Given the description of an element on the screen output the (x, y) to click on. 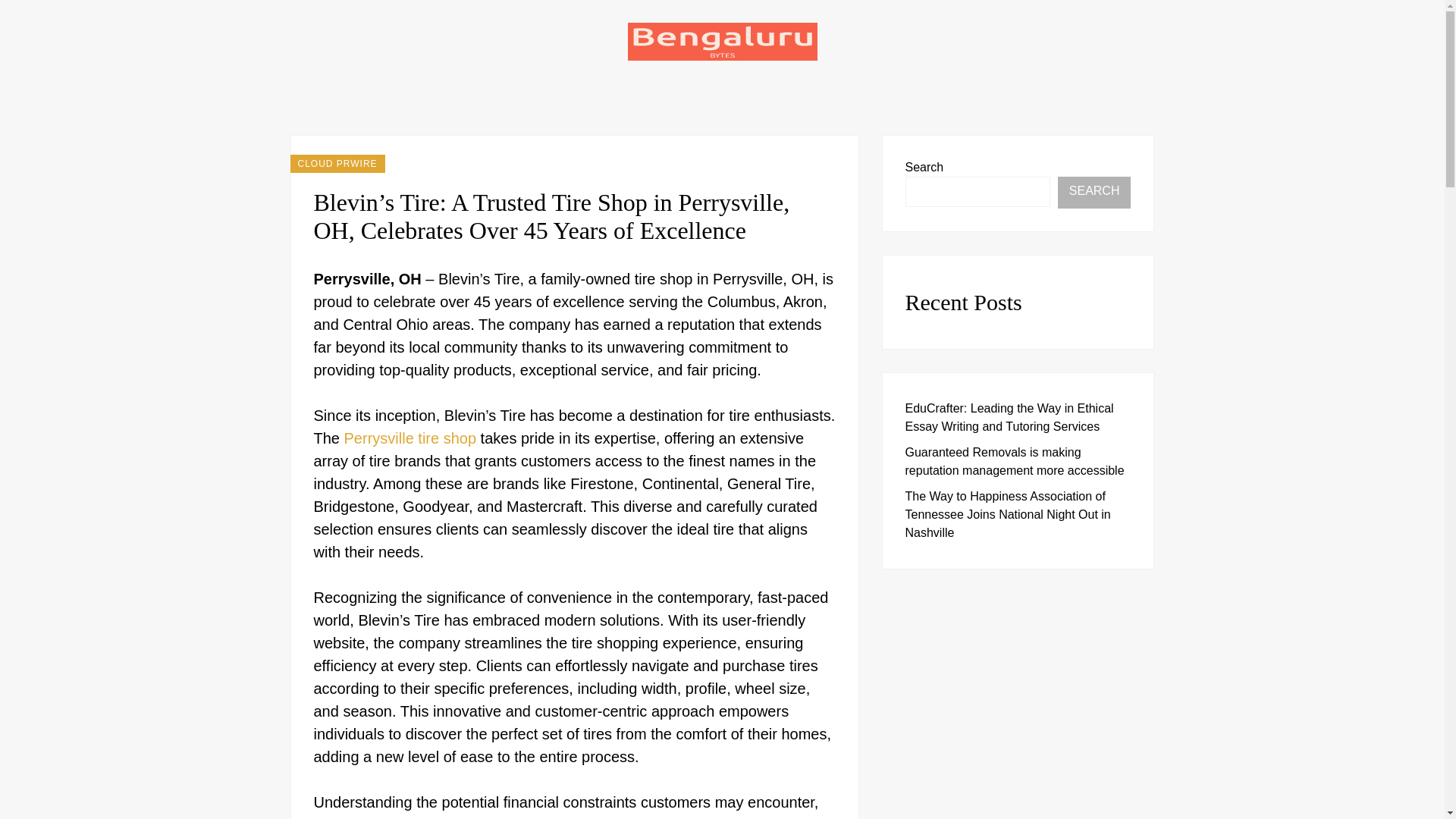
SEARCH (1094, 192)
CLOUD PRWIRE (336, 163)
Perrysville tire shop (410, 437)
